Given the description of an element on the screen output the (x, y) to click on. 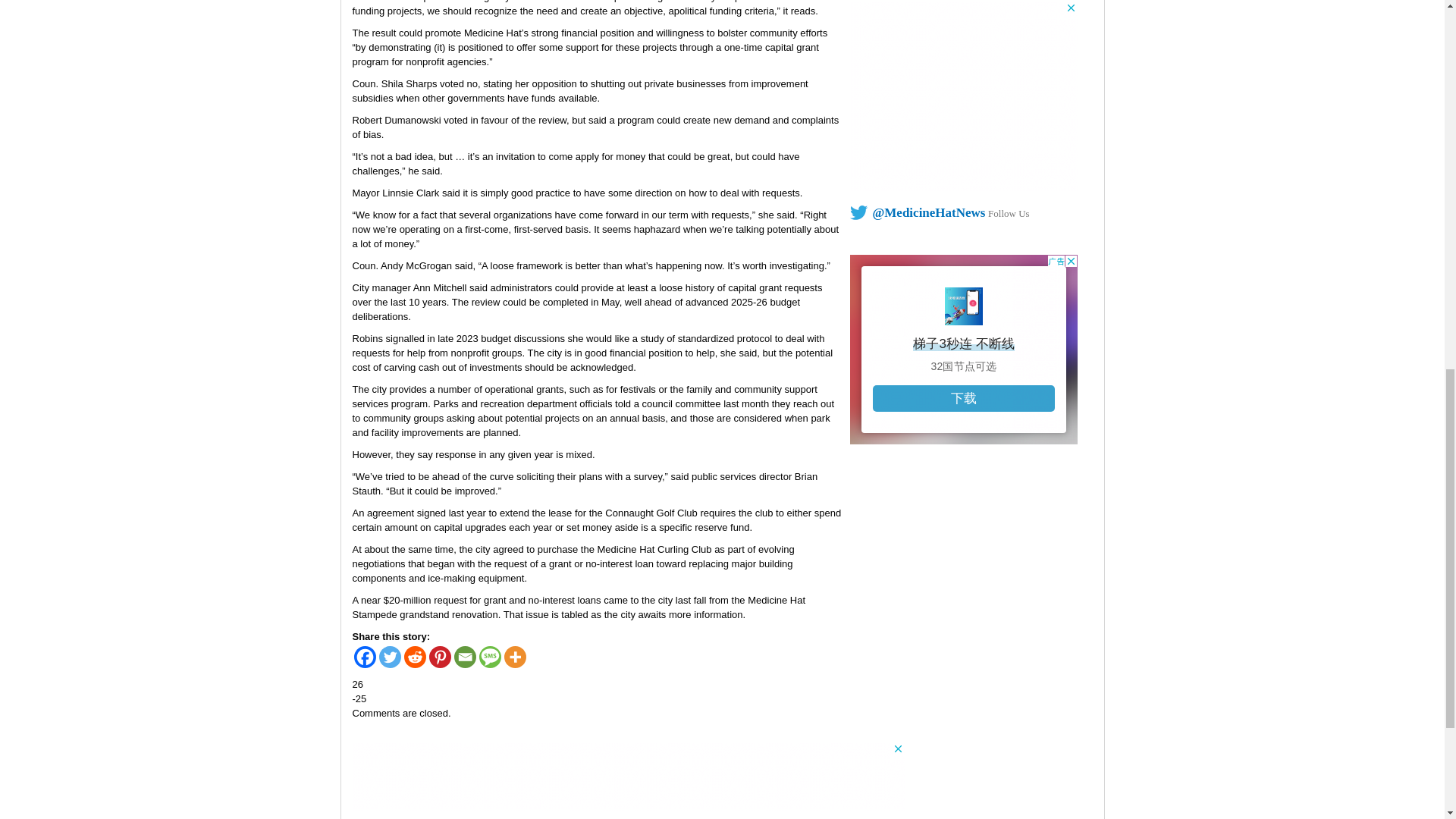
More (514, 657)
Facebook (364, 657)
Pinterest (440, 657)
3rd party ad content (962, 95)
Twitter (389, 657)
Reddit (414, 657)
3rd party ad content (962, 349)
SMS (489, 657)
3rd party ad content (628, 776)
Email (464, 657)
